Given the description of an element on the screen output the (x, y) to click on. 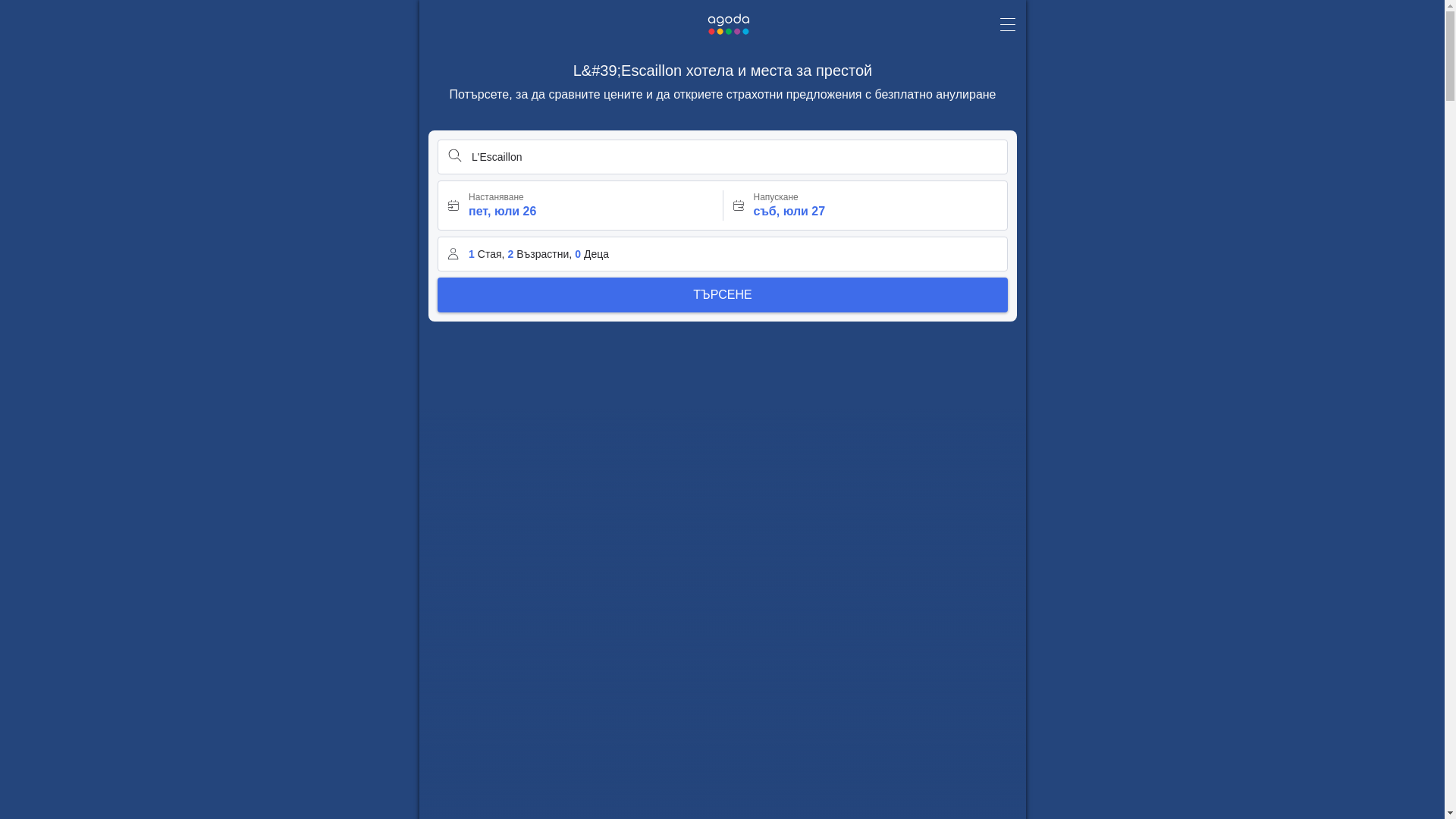
L'Escaillon (722, 156)
